Given the description of an element on the screen output the (x, y) to click on. 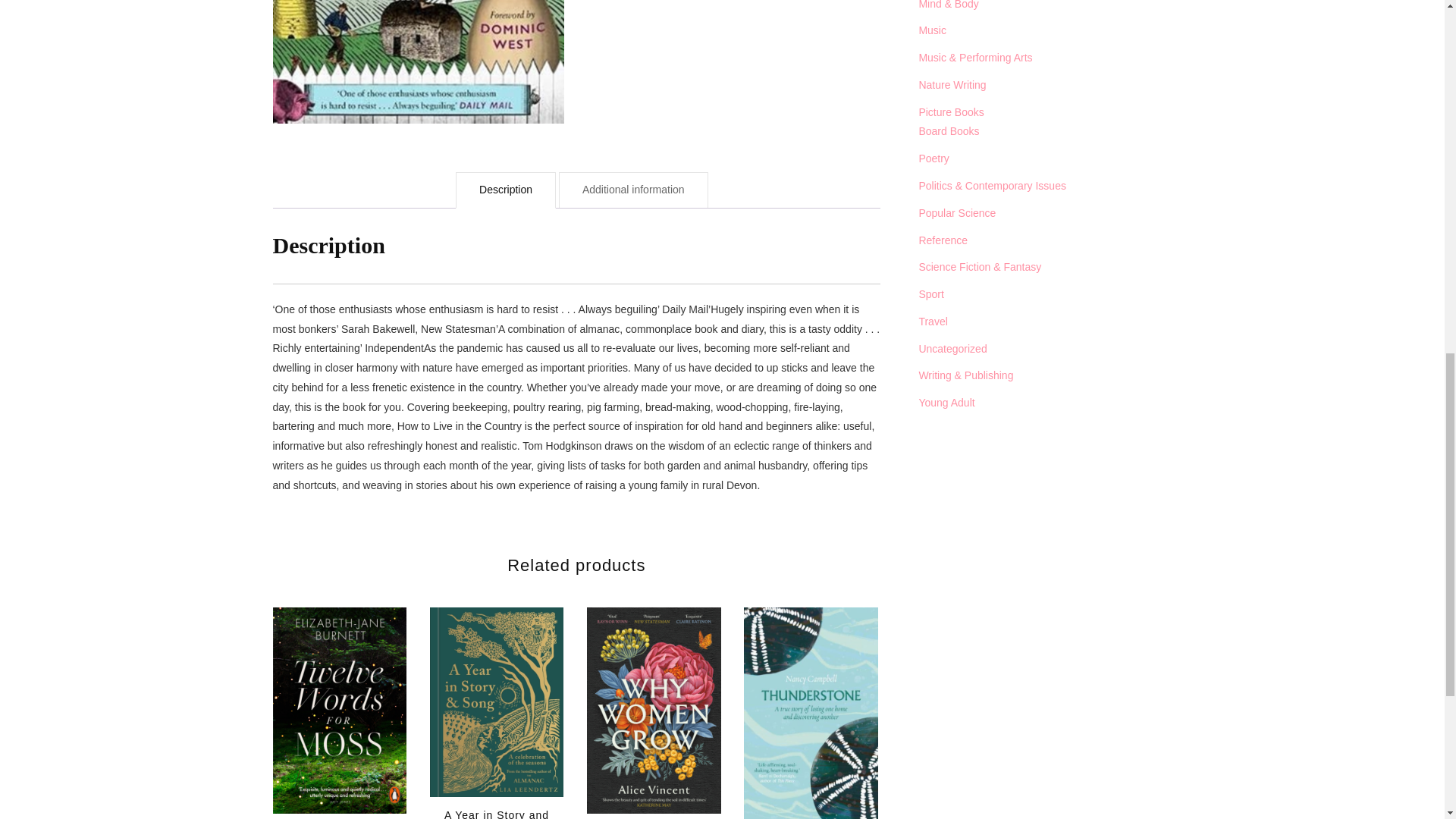
9781800180987.jpg (418, 62)
